Given the description of an element on the screen output the (x, y) to click on. 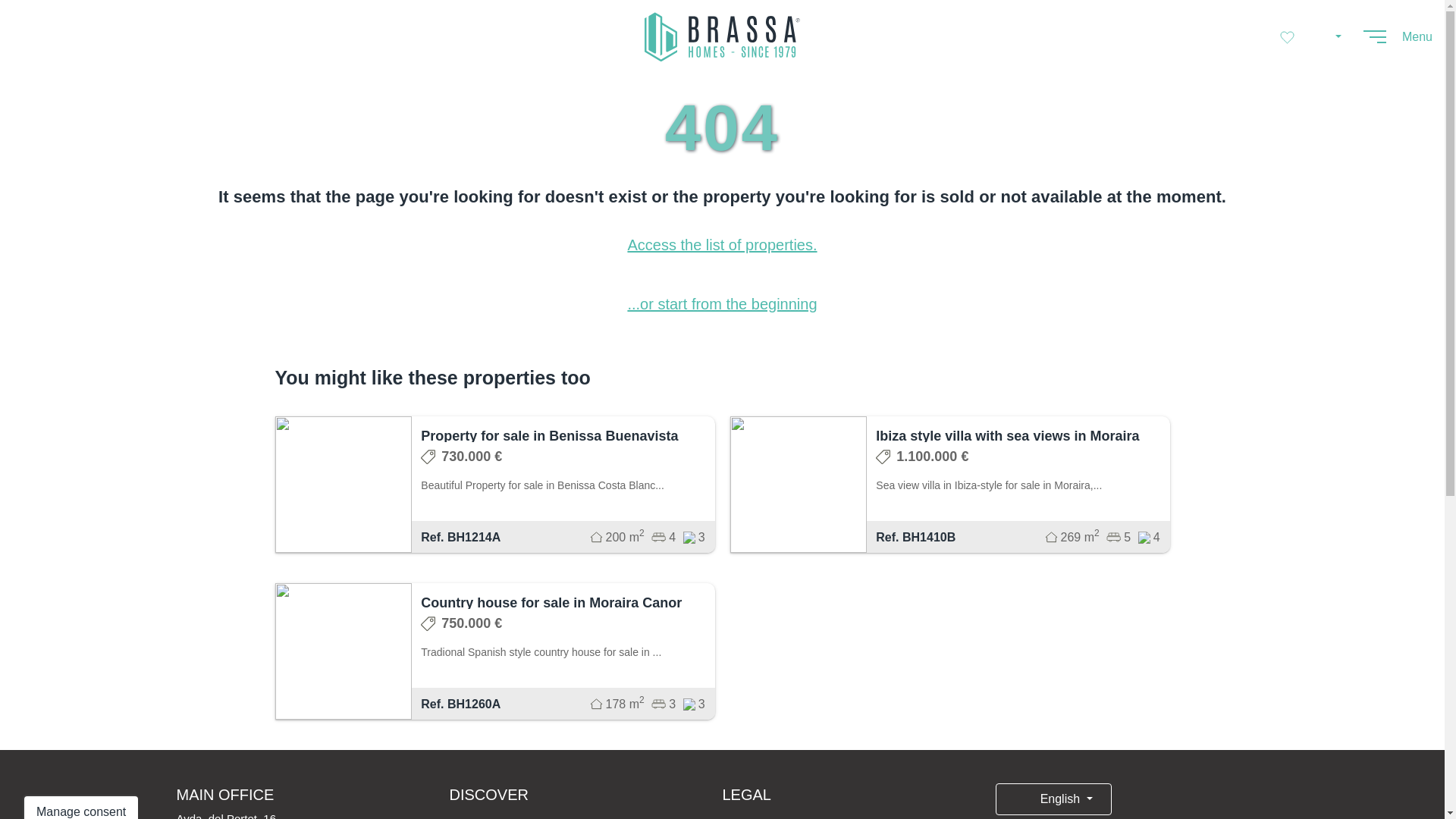
English (1052, 798)
Property for sale in Benissa Buenavista (549, 435)
Ibiza style villa with sea views in Moraira (1007, 435)
Access the list of properties. (721, 244)
...or start from the beginning (721, 303)
Country house for sale in Moraira Canor (550, 601)
